Given the description of an element on the screen output the (x, y) to click on. 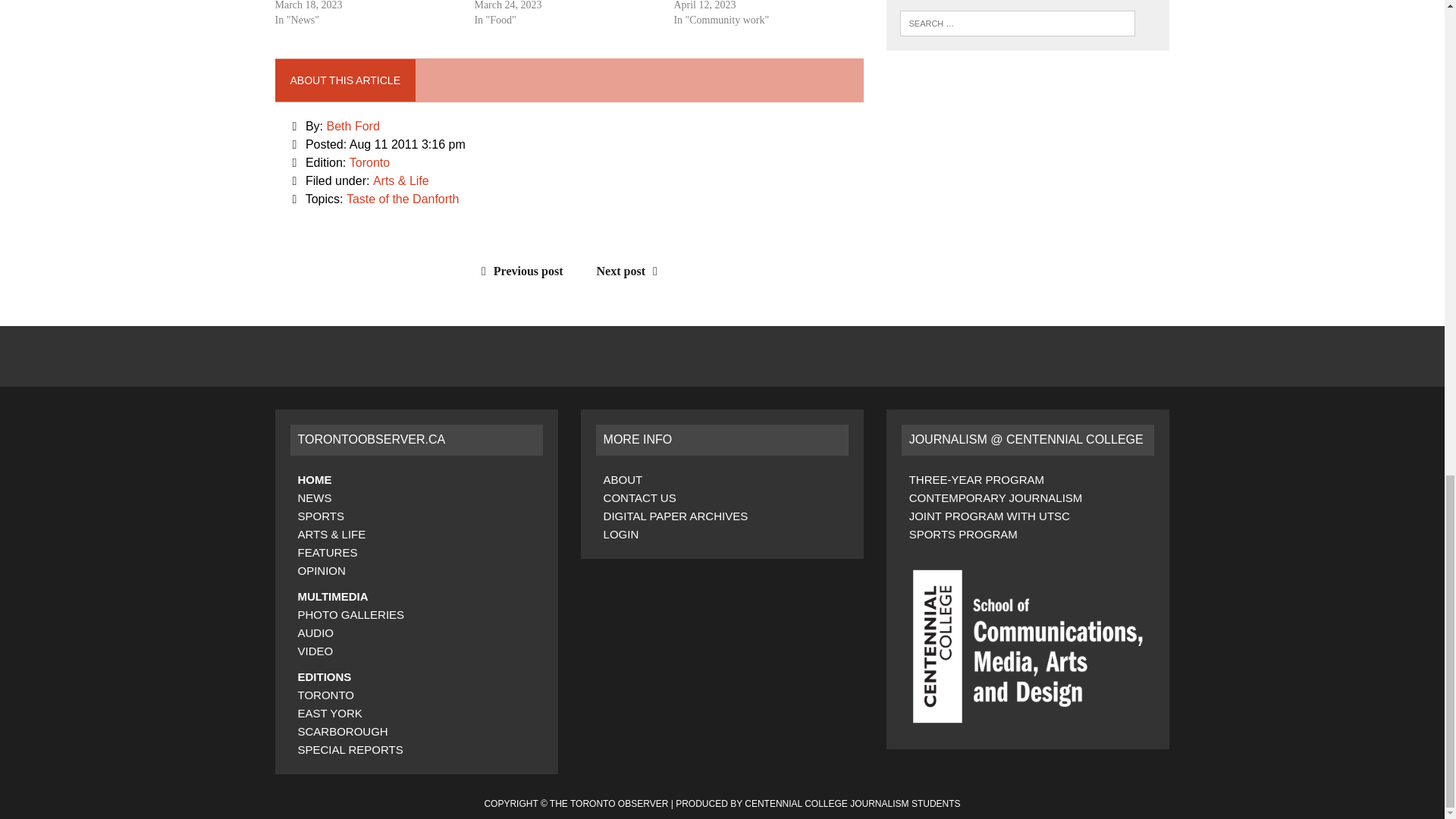
News (314, 497)
Home (314, 479)
Beth Ford (353, 125)
Sports (320, 515)
